Given the description of an element on the screen output the (x, y) to click on. 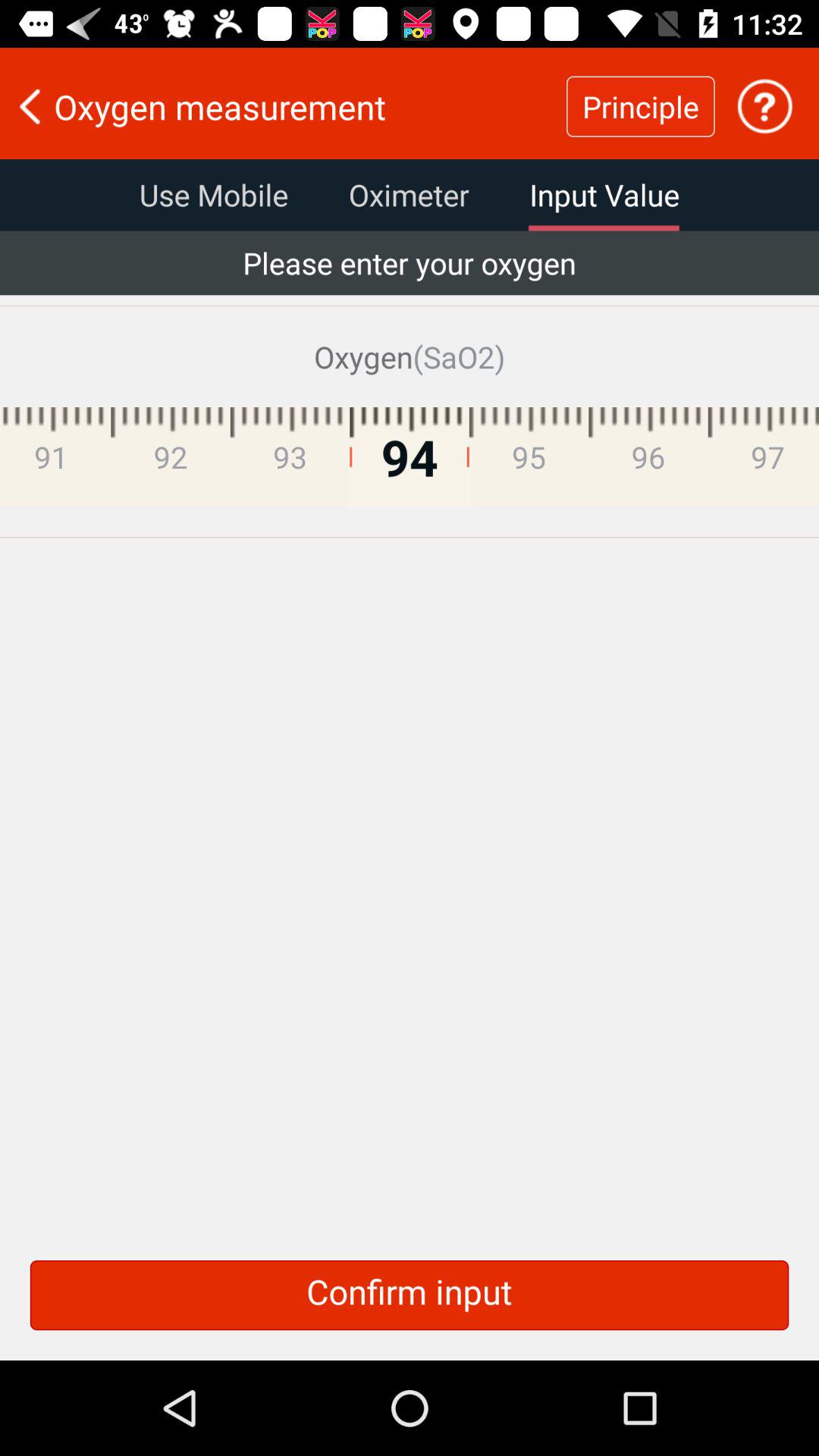
click the oxygen measurement (283, 106)
